Given the description of an element on the screen output the (x, y) to click on. 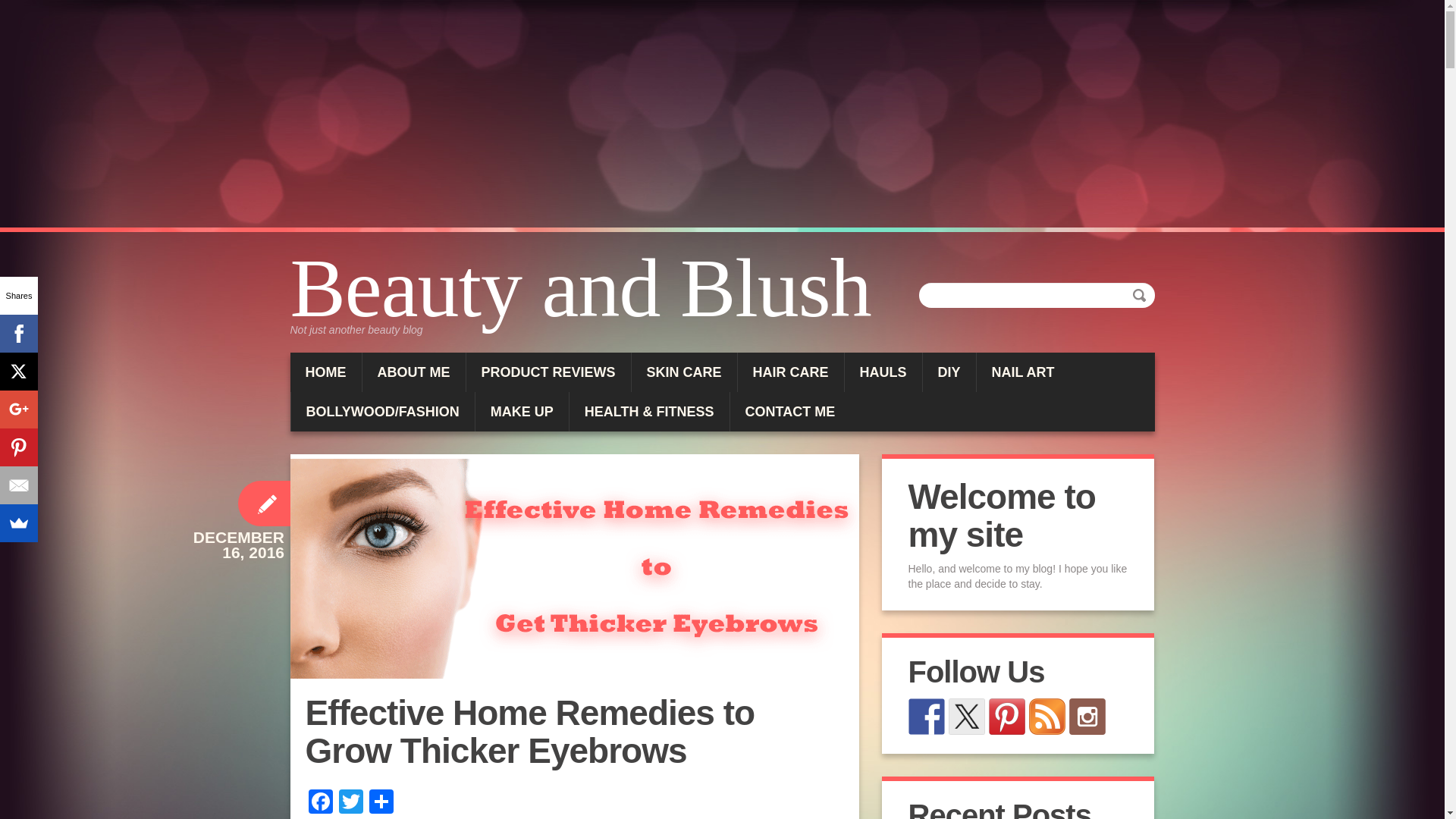
Twitter (349, 803)
MAKE UP (522, 411)
ABOUT ME (413, 372)
HOME (325, 372)
Beauty and Blush (585, 288)
HAIR CARE (791, 372)
NAIL ART (1023, 372)
Facebook (319, 803)
SKIN CARE (683, 372)
PRODUCT REVIEWS (547, 372)
DIY (949, 372)
Beauty and Blush (585, 288)
Twitter (349, 803)
Facebook (319, 803)
